Given the description of an element on the screen output the (x, y) to click on. 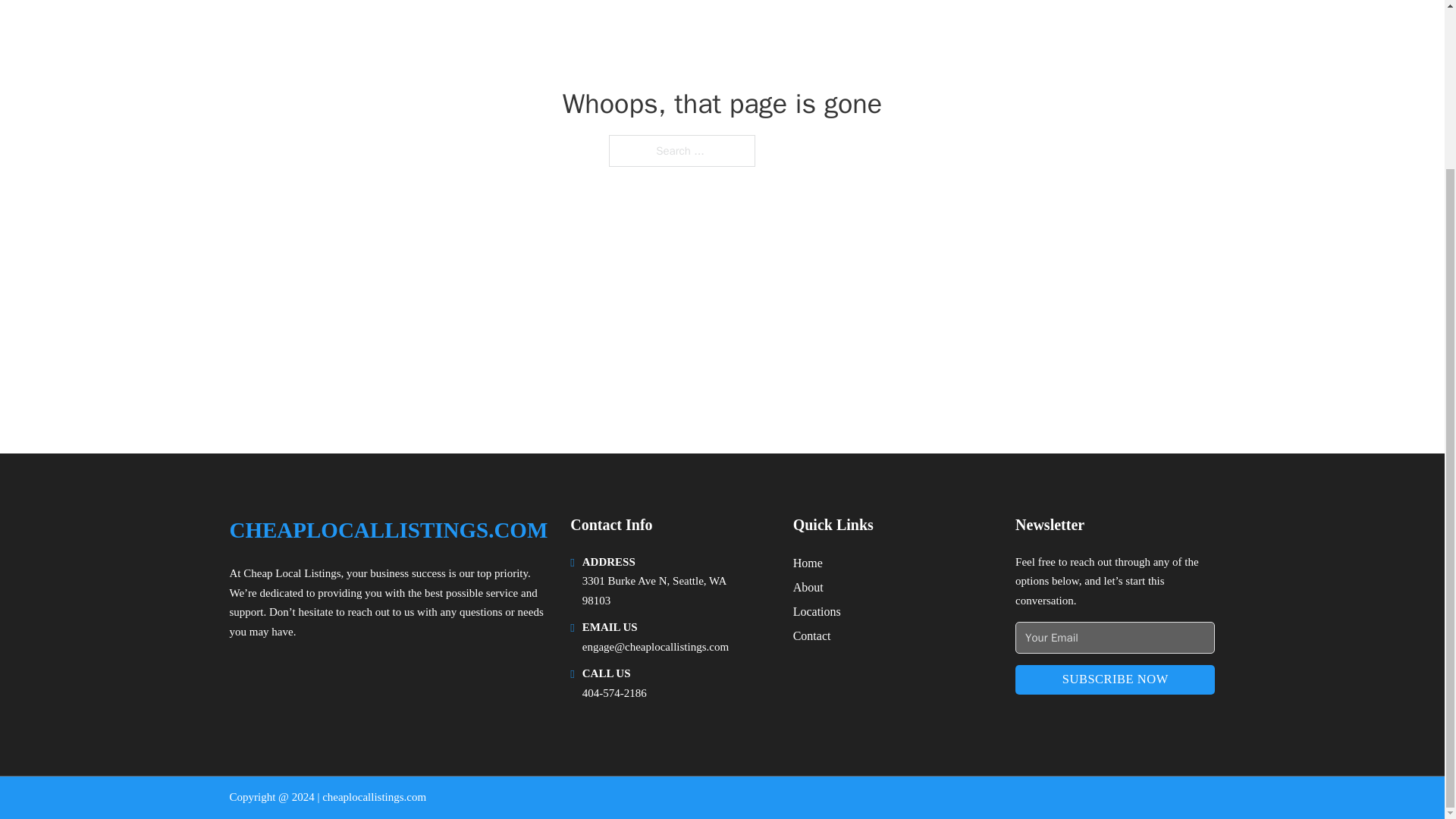
SUBSCRIBE NOW (1114, 679)
404-574-2186 (614, 693)
Home (807, 562)
Contact (812, 635)
CHEAPLOCALLISTINGS.COM (387, 529)
About (808, 587)
Locations (817, 611)
